Given the description of an element on the screen output the (x, y) to click on. 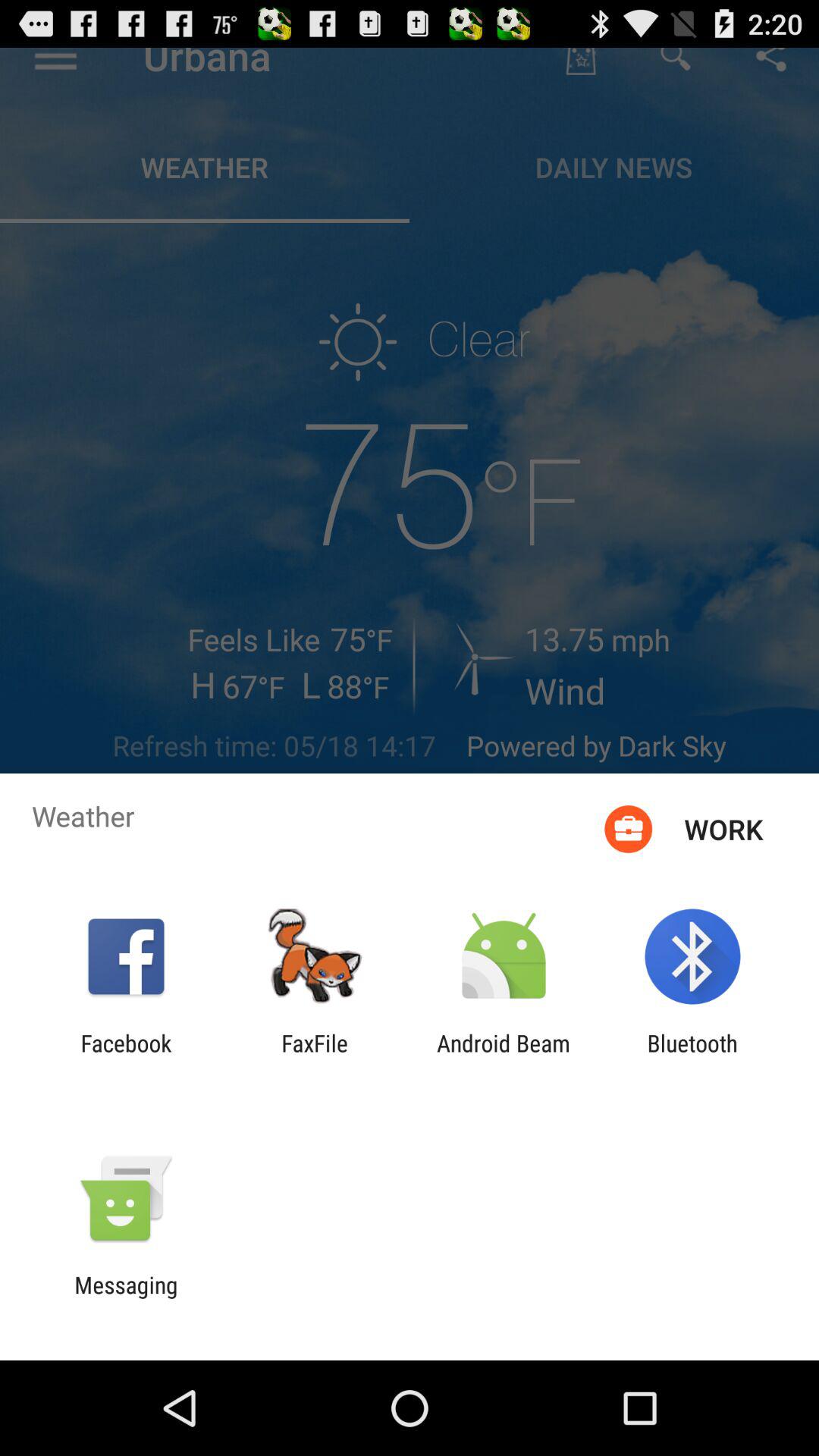
flip to facebook (125, 1056)
